Given the description of an element on the screen output the (x, y) to click on. 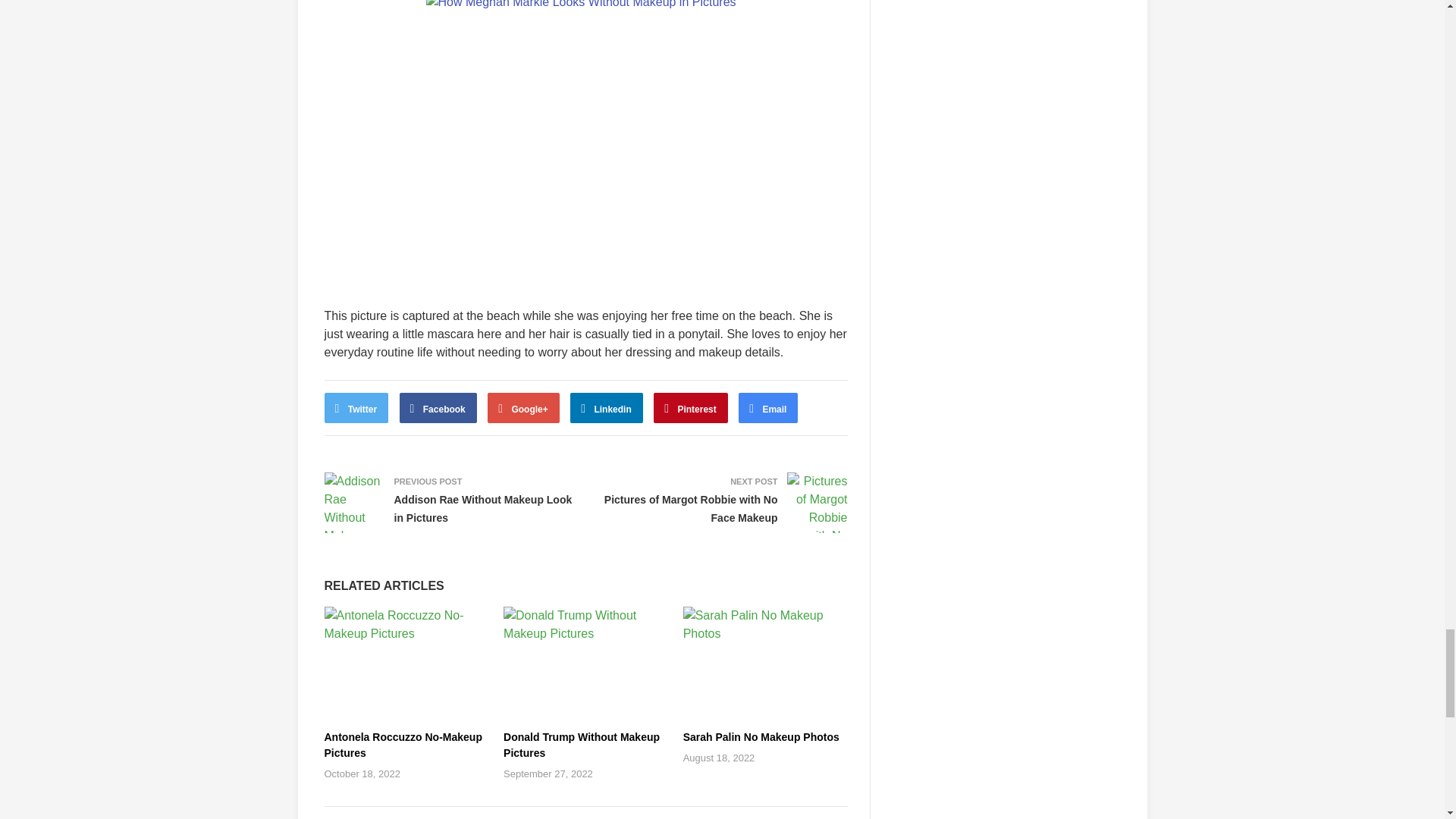
Pictures of Margot Robbie with No Face Makeup (690, 508)
Twitter (356, 408)
Pinterest (690, 408)
Addison Rae Without Makeup Look in Pictures (483, 508)
Donald Trump Without Makeup Pictures (581, 745)
Antonela Roccuzzo No-Makeup Pictures (402, 745)
Email (767, 408)
Facebook (437, 408)
Linkedin (606, 408)
